Given the description of an element on the screen output the (x, y) to click on. 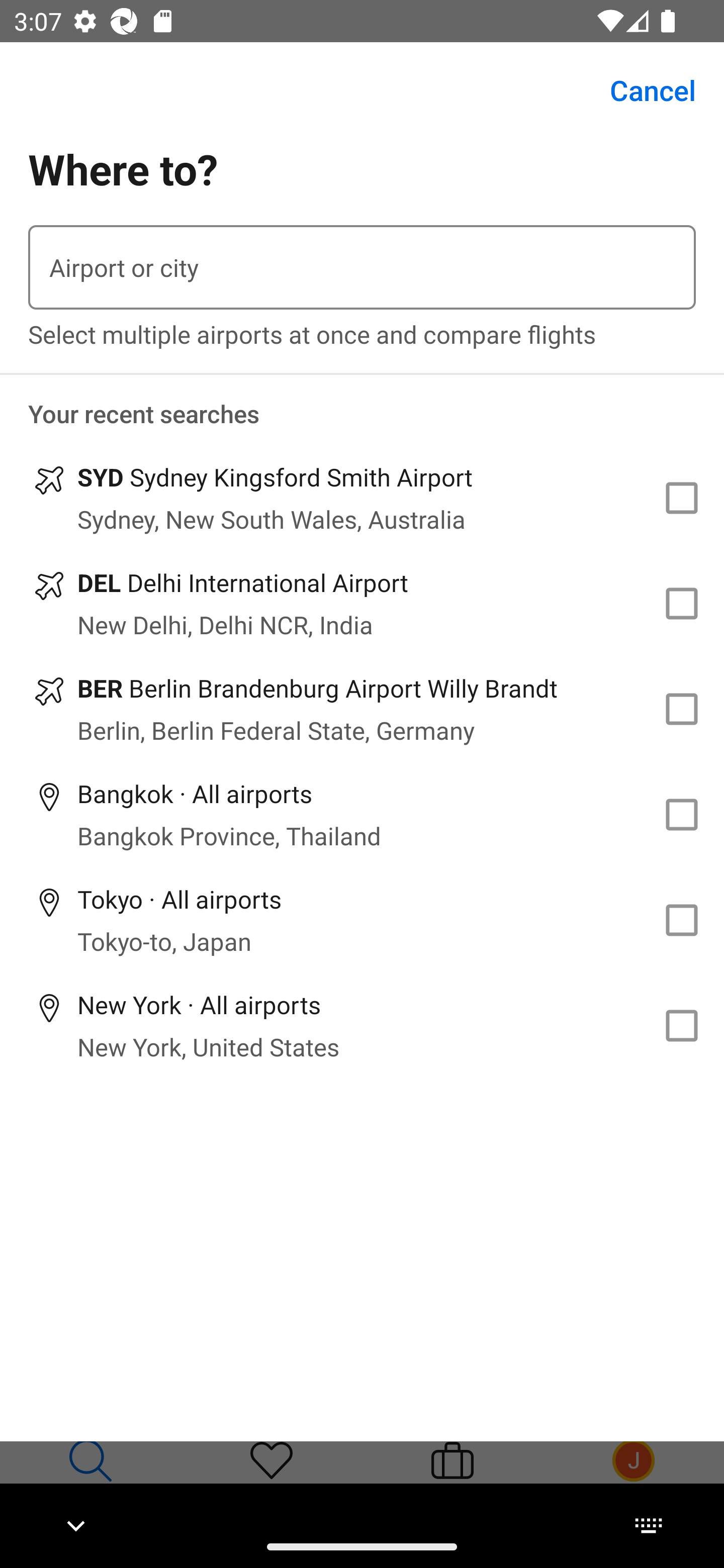
Cancel (641, 90)
Airport or city (361, 266)
Bangkok · All airports Bangkok Province, Thailand (362, 814)
Tokyo · All airports Tokyo-to, Japan (362, 920)
New York · All airports New York, United States (362, 1025)
